Given the description of an element on the screen output the (x, y) to click on. 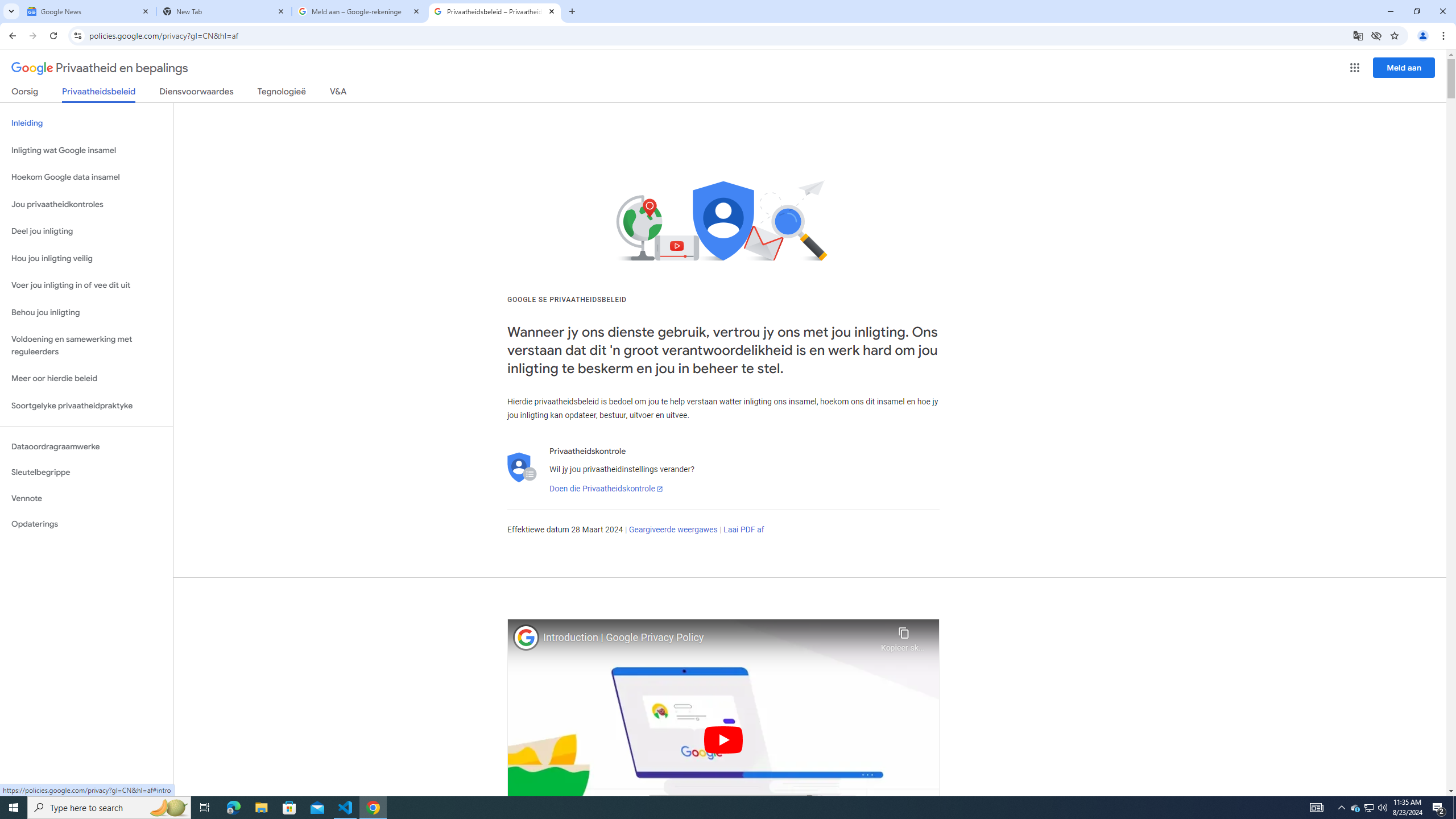
Inligting wat Google insamel (86, 150)
Meld aan (1404, 67)
Speel (723, 739)
Kopieer skakel (903, 636)
Fotobeeld van Google (526, 636)
Dataoordragraamwerke (86, 446)
Doen die Privaatheidskontrole (605, 488)
